Given the description of an element on the screen output the (x, y) to click on. 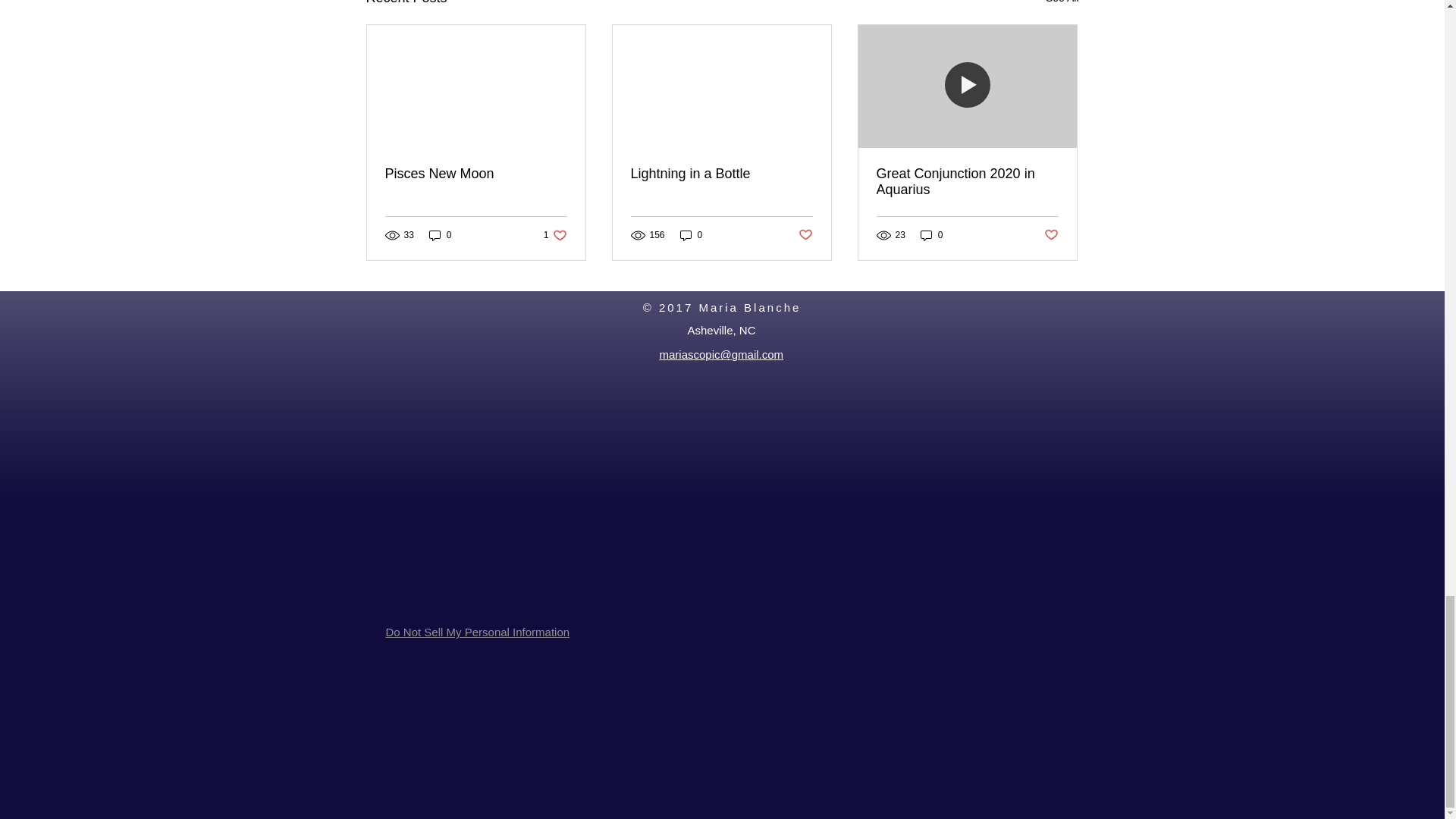
See All (1061, 4)
0 (440, 235)
Pisces New Moon (476, 173)
